Given the description of an element on the screen output the (x, y) to click on. 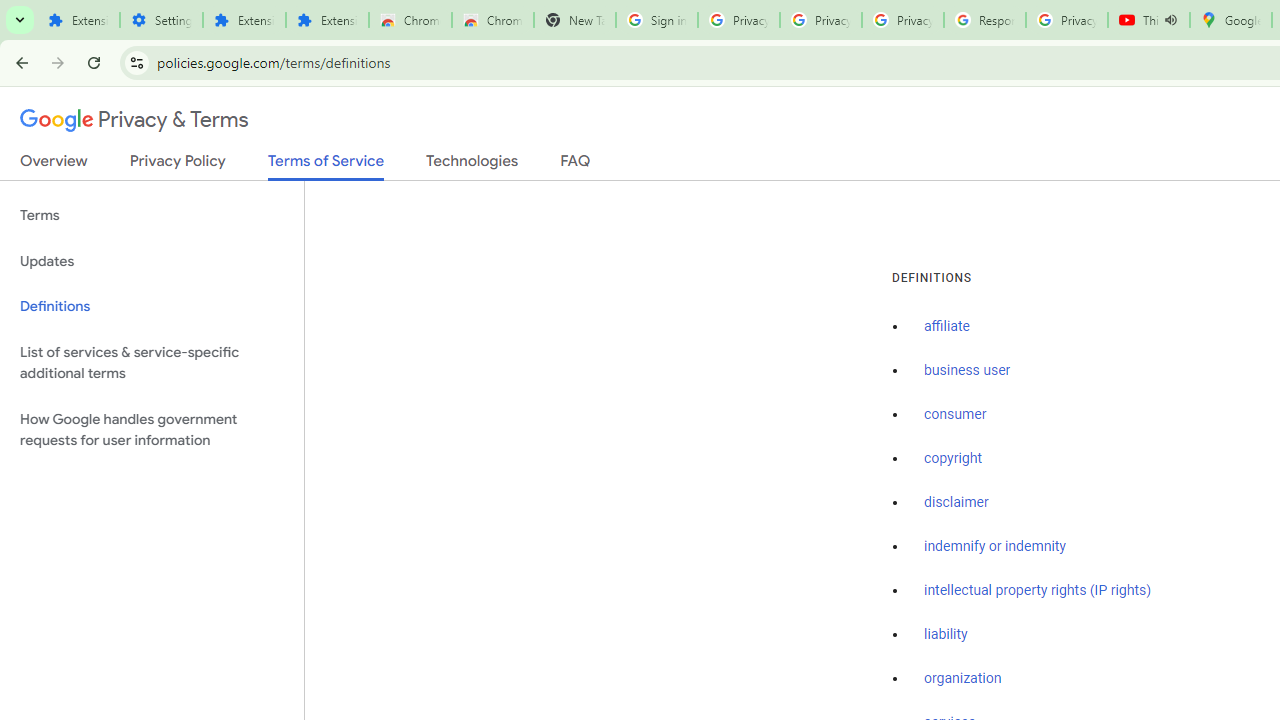
liability (945, 634)
Sign in - Google Accounts (656, 20)
Settings (161, 20)
New Tab (574, 20)
Mute tab (1170, 20)
copyright (952, 459)
FAQ (575, 165)
Chrome Web Store (409, 20)
Updates (152, 261)
Privacy Policy (177, 165)
